Given the description of an element on the screen output the (x, y) to click on. 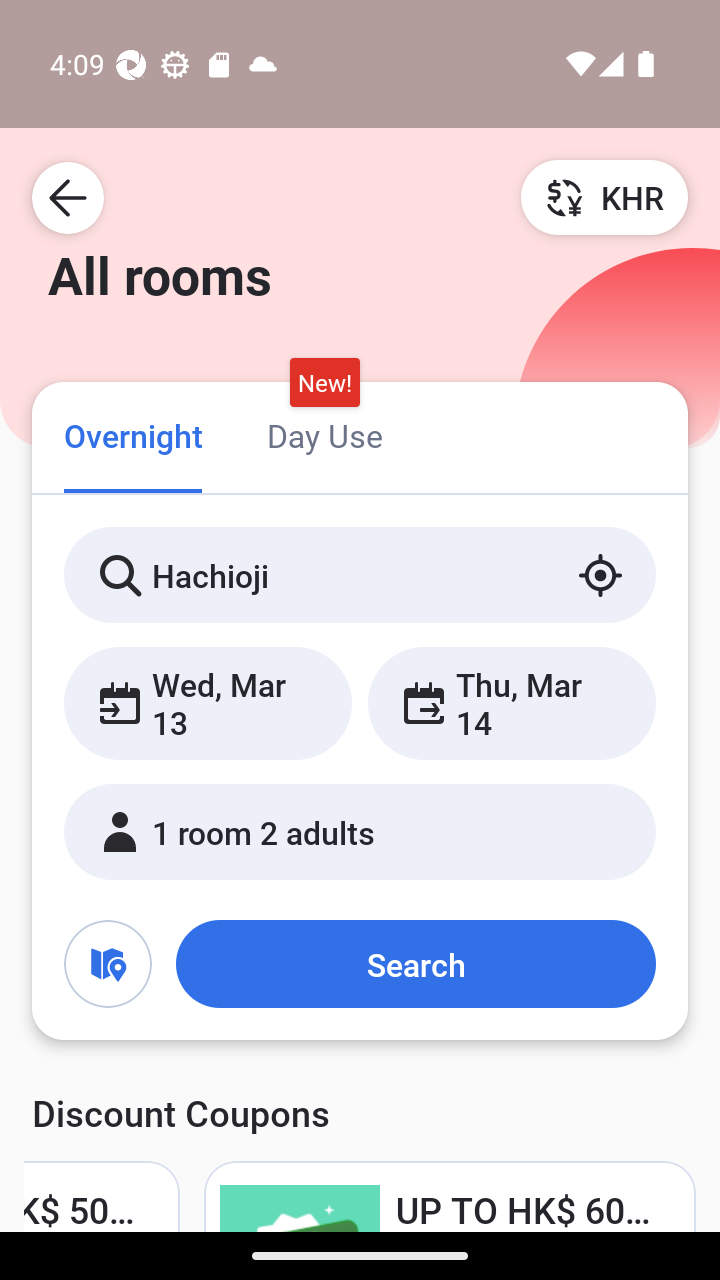
KHR (604, 197)
New! (324, 383)
Day Use (324, 434)
Hachioji (359, 575)
Wed, Mar 13 (208, 703)
Thu, Mar 14 (511, 703)
1 room 2 adults (359, 831)
Search (415, 964)
